Given the description of an element on the screen output the (x, y) to click on. 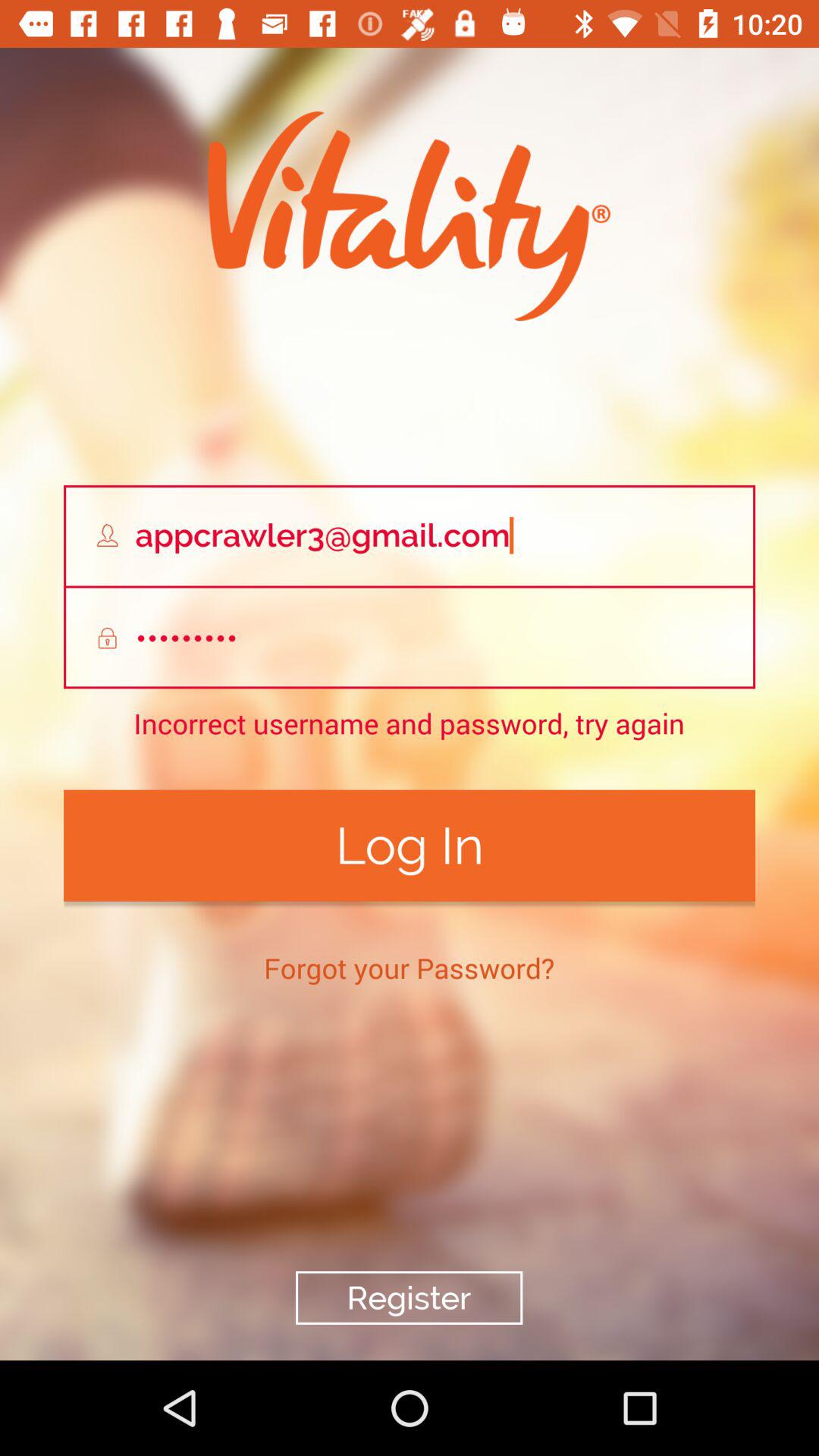
click crowd3116 (409, 638)
